Given the description of an element on the screen output the (x, y) to click on. 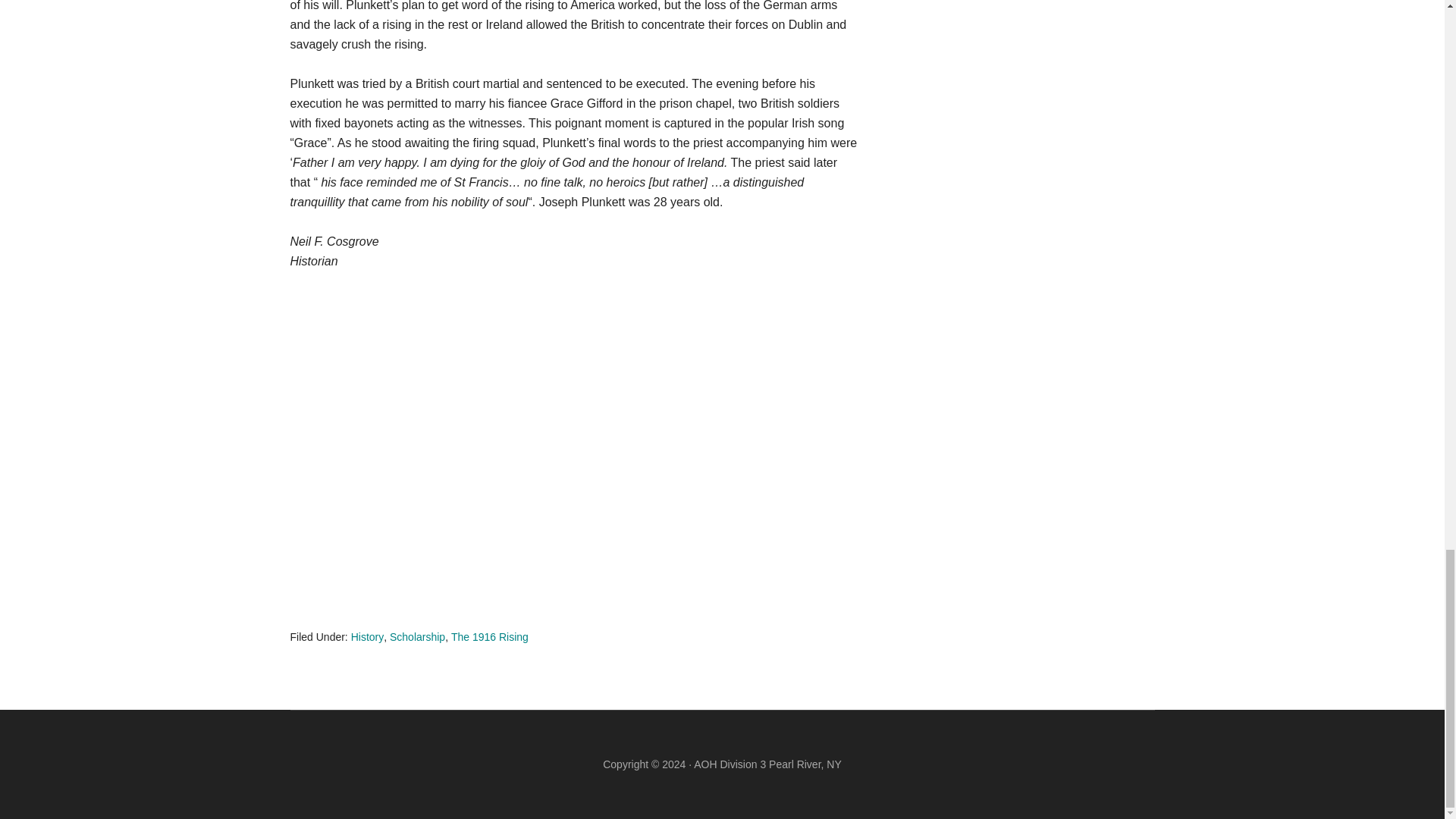
History (367, 636)
Scholarship (417, 636)
The 1916 Rising (489, 636)
